Given the description of an element on the screen output the (x, y) to click on. 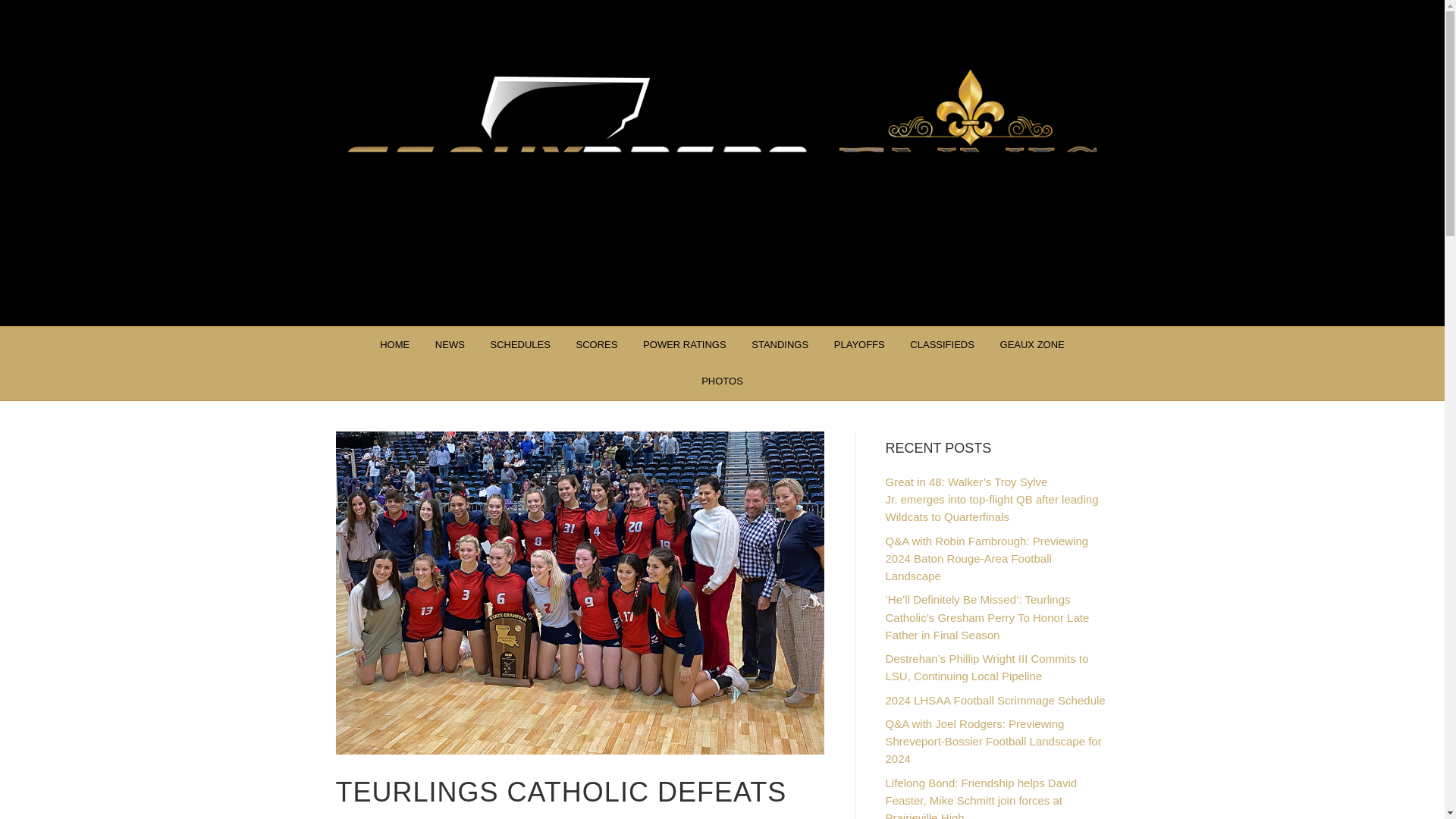
POWER RATINGS (684, 344)
PLAYOFFS (859, 344)
STANDINGS (779, 344)
PHOTOS (722, 381)
NEWS (449, 344)
SCORES (596, 344)
GEAUX ZONE (1031, 344)
SCHEDULES (519, 344)
2024 LHSAA Football Scrimmage Schedule (995, 699)
